Given the description of an element on the screen output the (x, y) to click on. 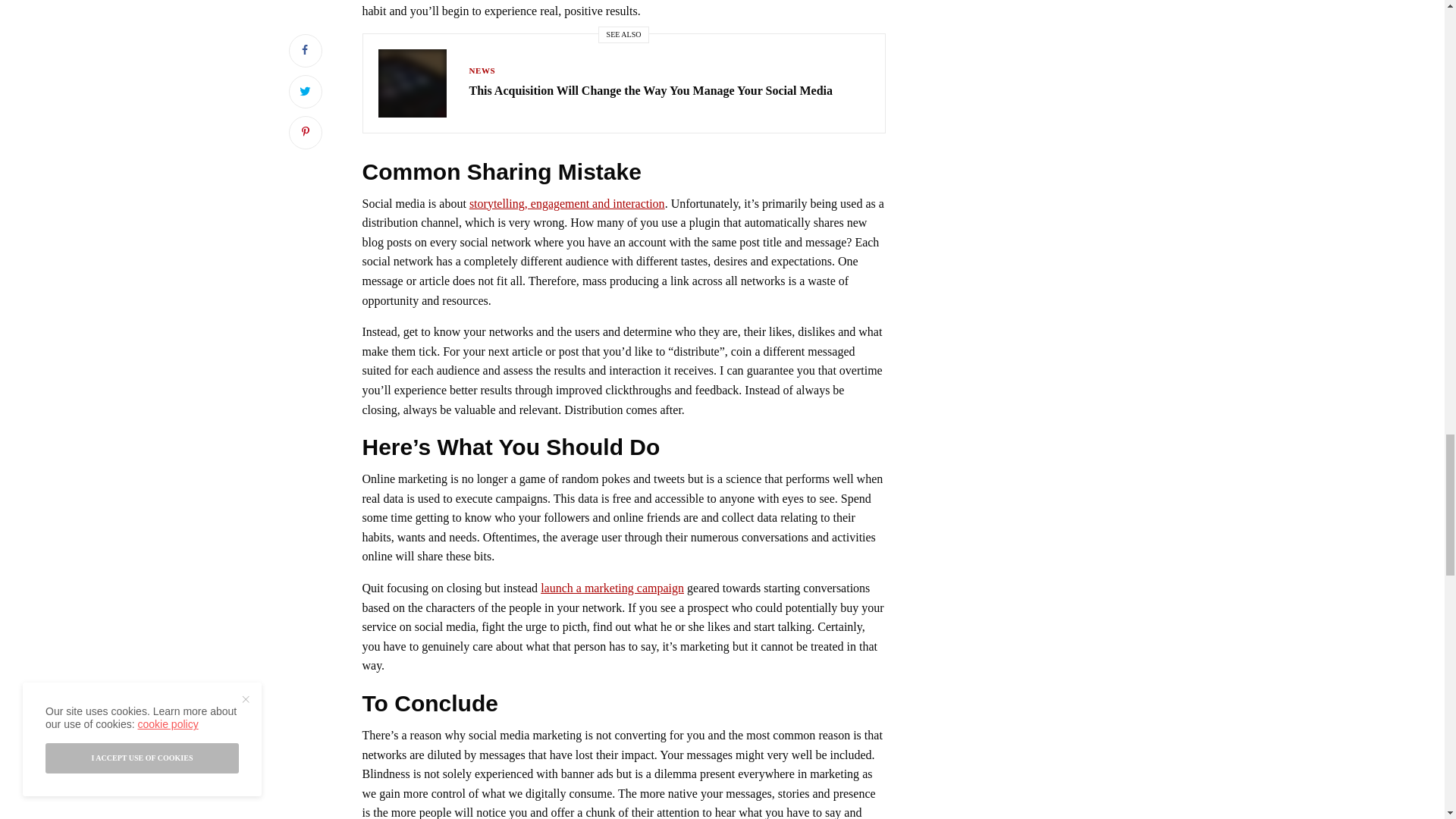
NEWS (481, 70)
launch a marketing campaign (612, 587)
storytelling, engagement and interaction (566, 203)
